Given the description of an element on the screen output the (x, y) to click on. 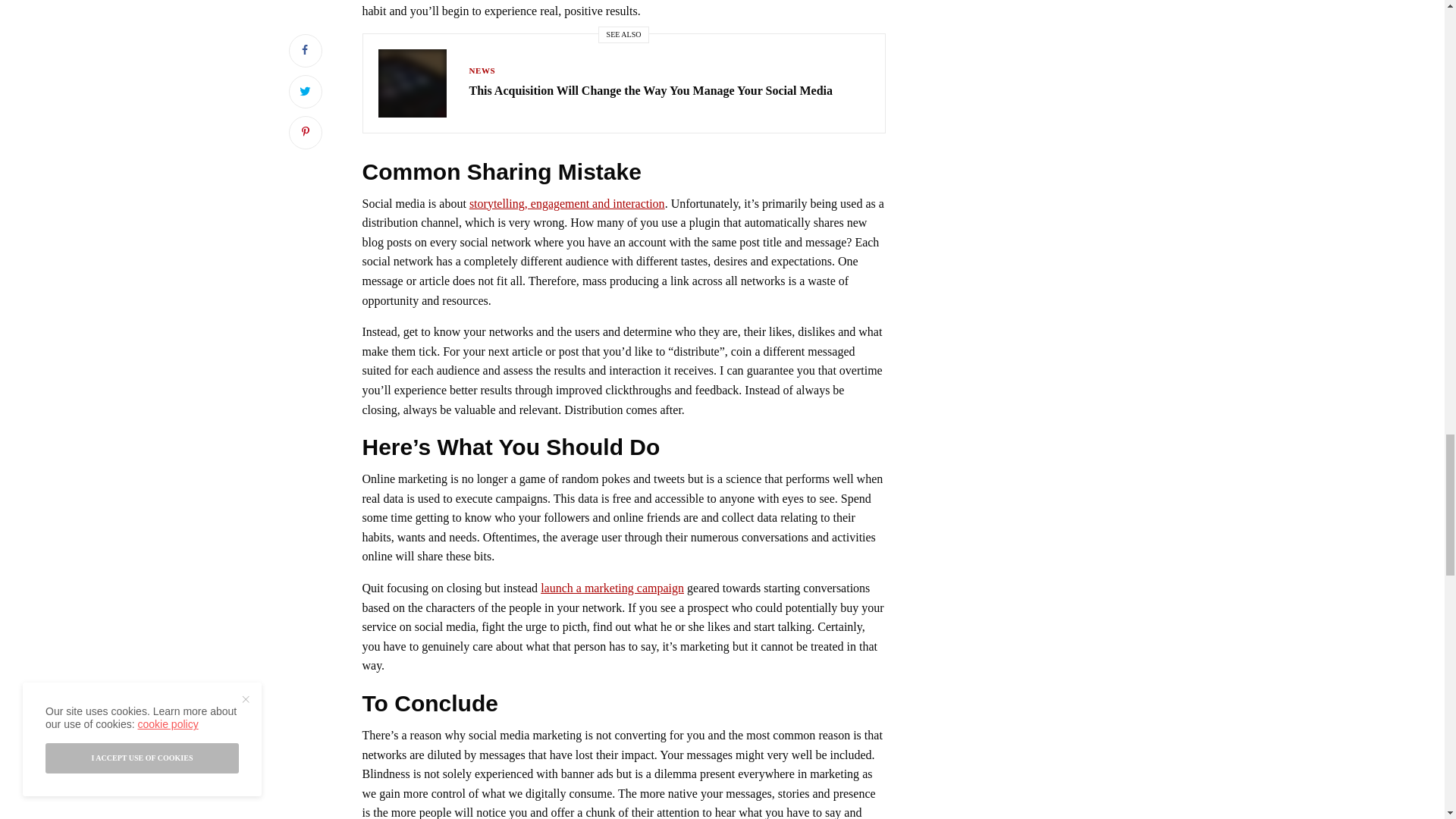
NEWS (481, 70)
launch a marketing campaign (612, 587)
storytelling, engagement and interaction (566, 203)
